Given the description of an element on the screen output the (x, y) to click on. 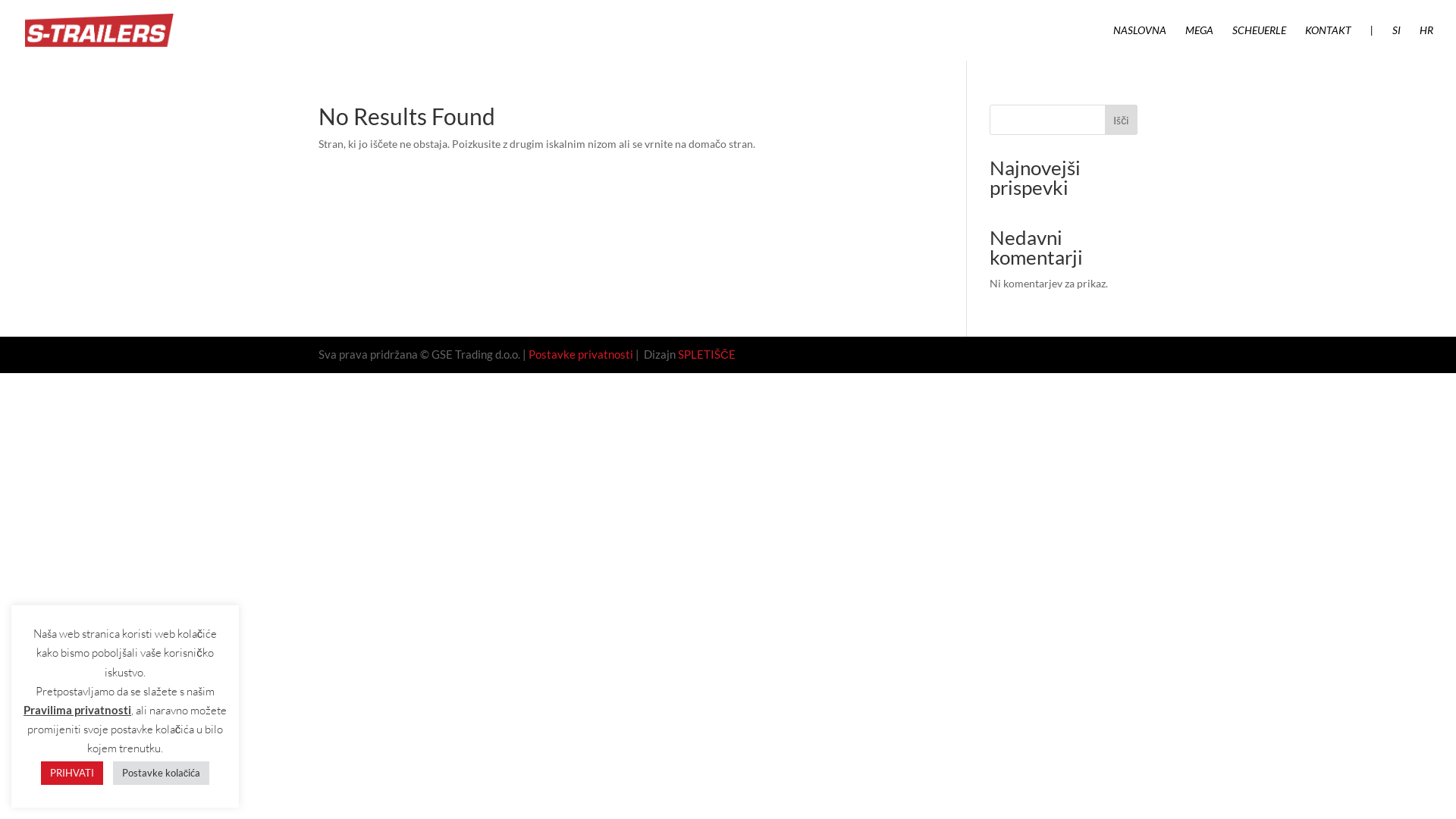
SCHEUERLE Element type: text (1259, 42)
| Element type: text (1371, 42)
Pravilima privatnosti Element type: text (77, 710)
KONTAKT Element type: text (1328, 42)
SI Element type: text (1396, 42)
Postavke privatnosti Element type: text (580, 353)
HR Element type: text (1426, 42)
NASLOVNA Element type: text (1139, 42)
MEGA Element type: text (1199, 42)
PRIHVATI Element type: text (71, 772)
